Given the description of an element on the screen output the (x, y) to click on. 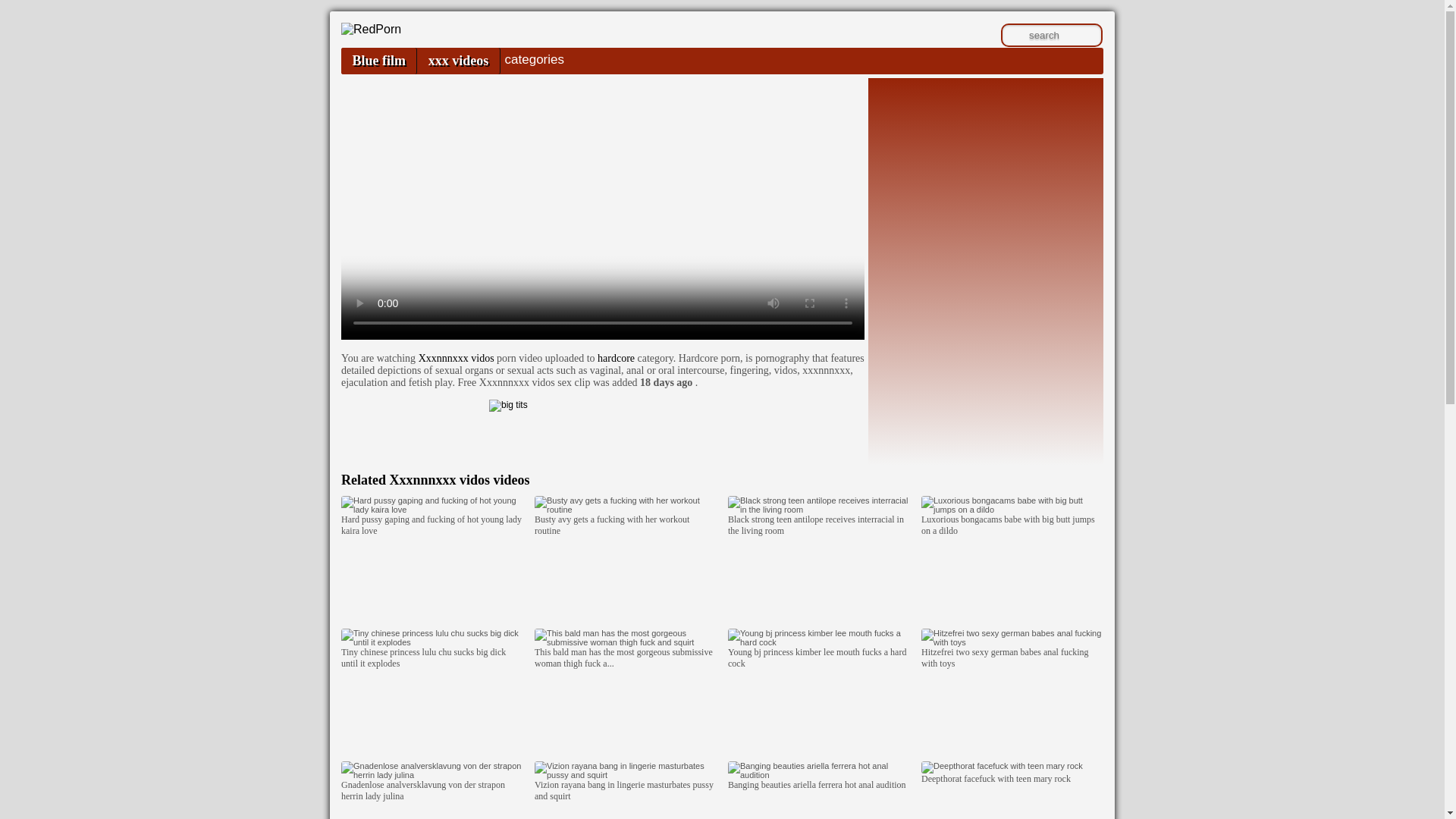
Xxxnnnxxx vidos videos (458, 479)
Blue film (378, 60)
categories (533, 59)
Indian Porn (370, 29)
xxx videos (457, 60)
Xxxnnnxxx vidos (457, 357)
hardcore (615, 357)
xxx videos (457, 60)
Blue film (378, 60)
